Given the description of an element on the screen output the (x, y) to click on. 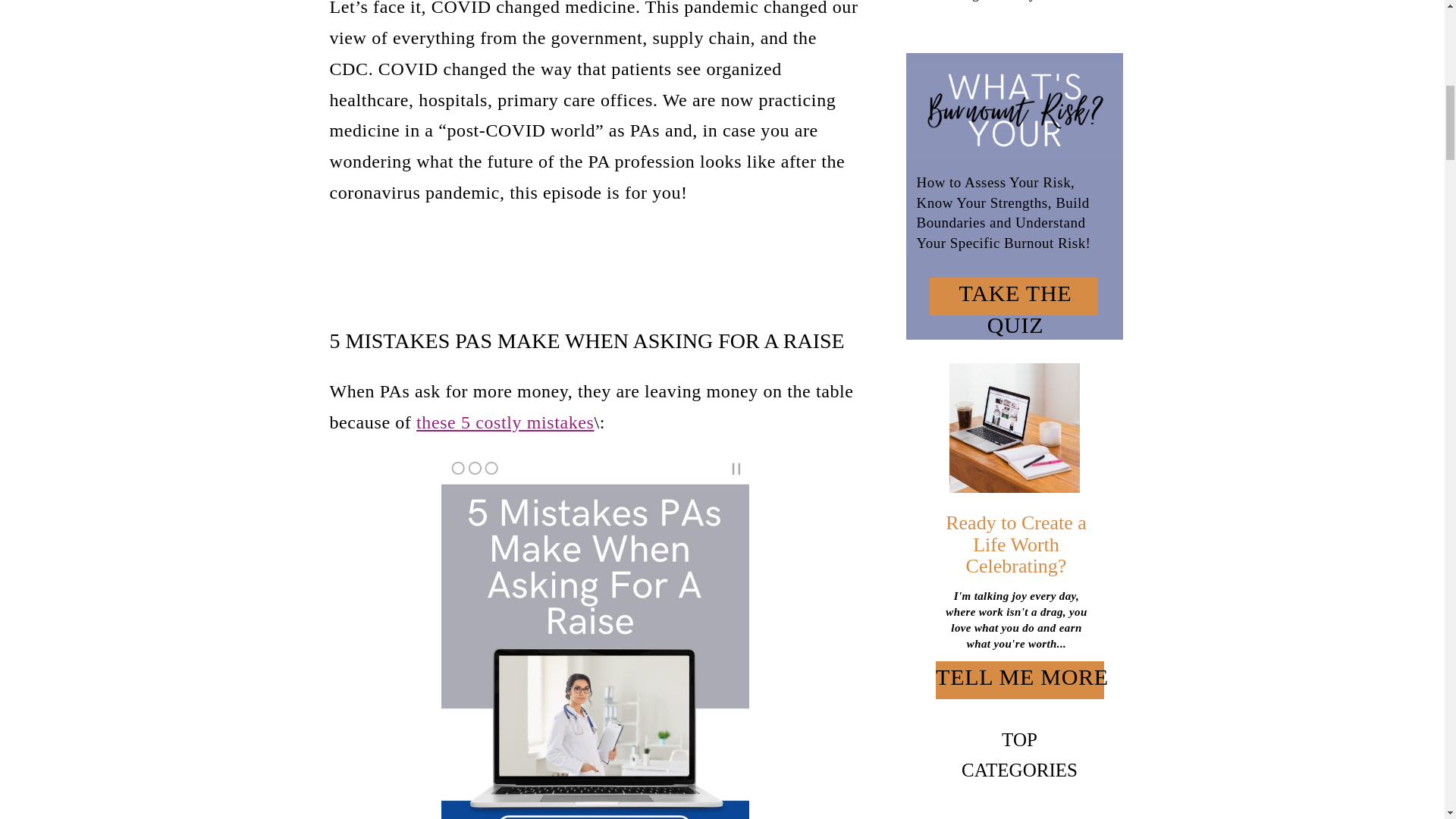
TELL ME MORE (1022, 679)
